Given the description of an element on the screen output the (x, y) to click on. 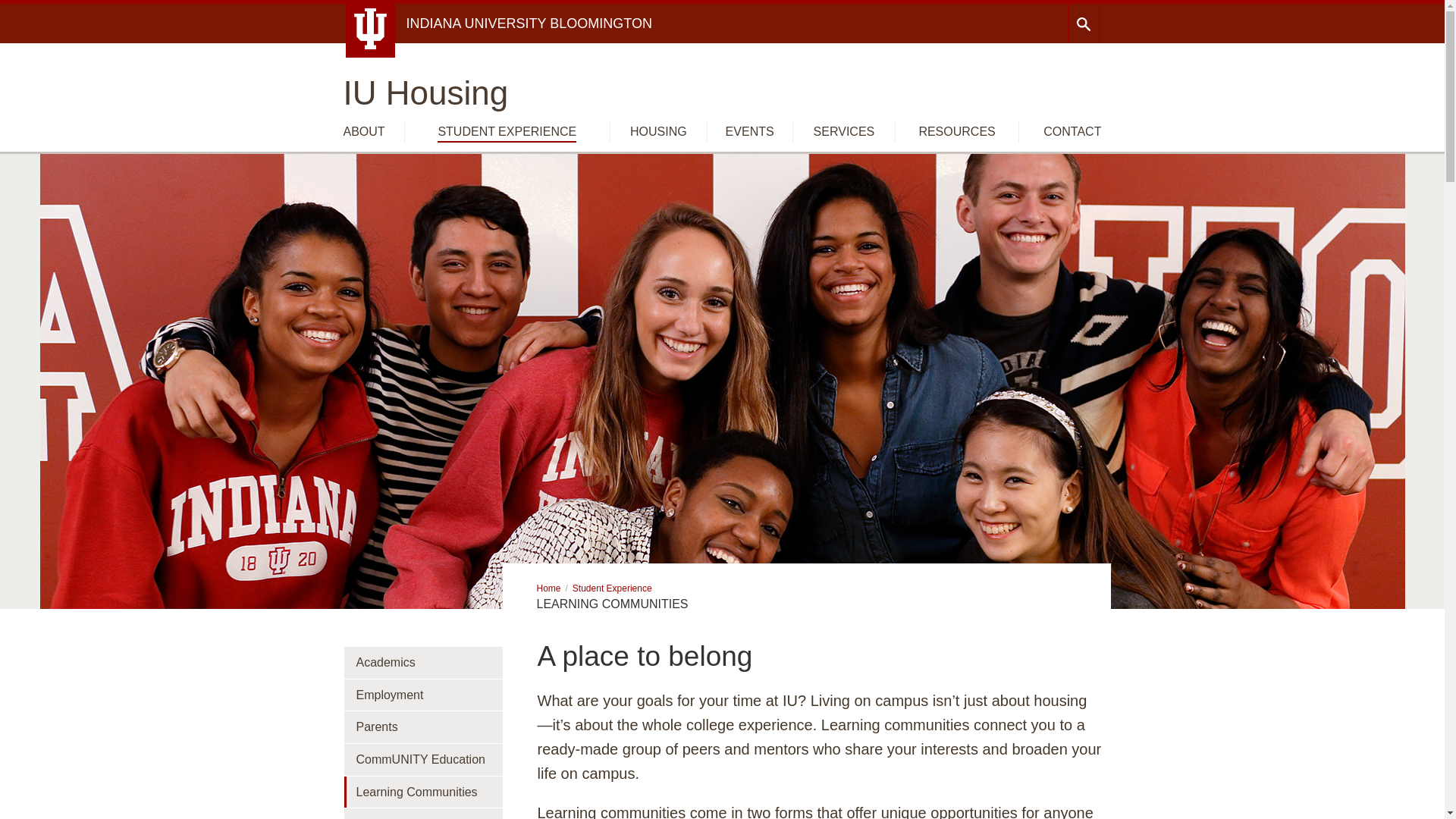
INDIANA UNIVERSITY BLOOMINGTON (529, 23)
Indiana University Bloomington (529, 23)
